Given the description of an element on the screen output the (x, y) to click on. 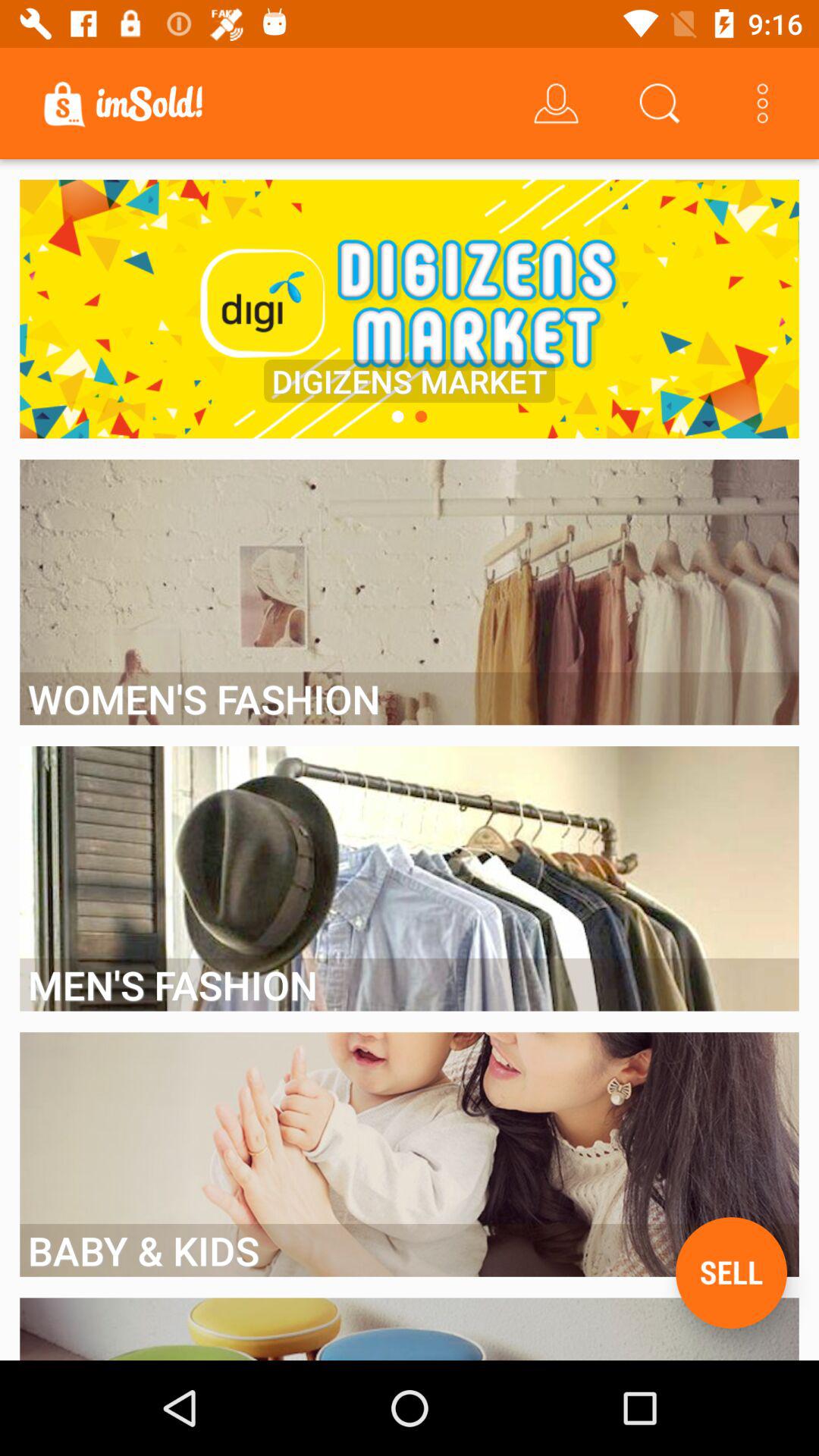
sell items (731, 1272)
